Given the description of an element on the screen output the (x, y) to click on. 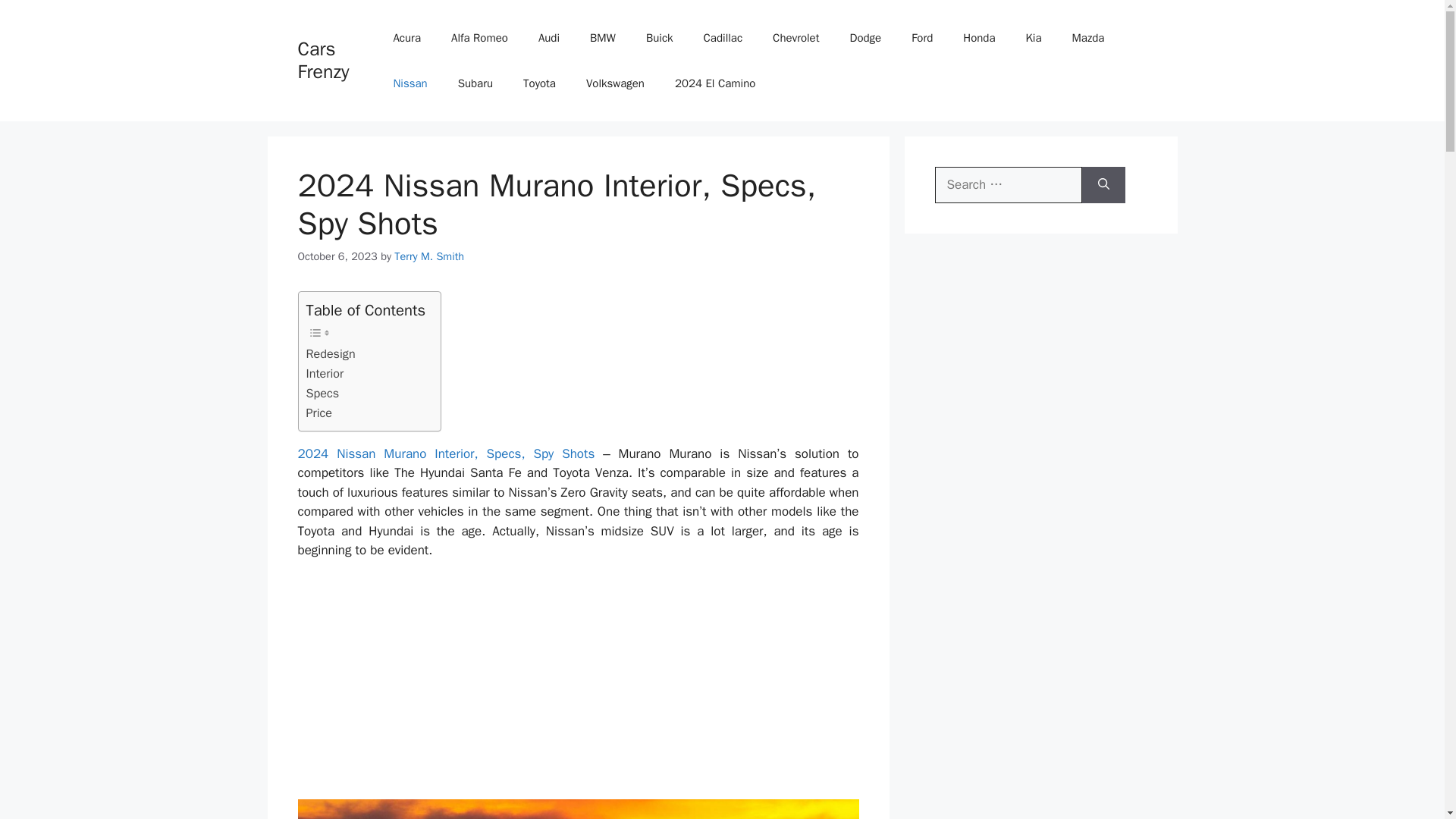
Ford (921, 37)
Alfa Romeo (478, 37)
View all posts by Terry M. Smith (429, 255)
BMW (602, 37)
Specs (322, 393)
Redesign (330, 353)
Advertisement (578, 685)
Subaru (475, 83)
Price (319, 413)
Volkswagen (614, 83)
Price (319, 413)
Cars Frenzy (323, 59)
Terry M. Smith (429, 255)
Honda (978, 37)
Cadillac (723, 37)
